Given the description of an element on the screen output the (x, y) to click on. 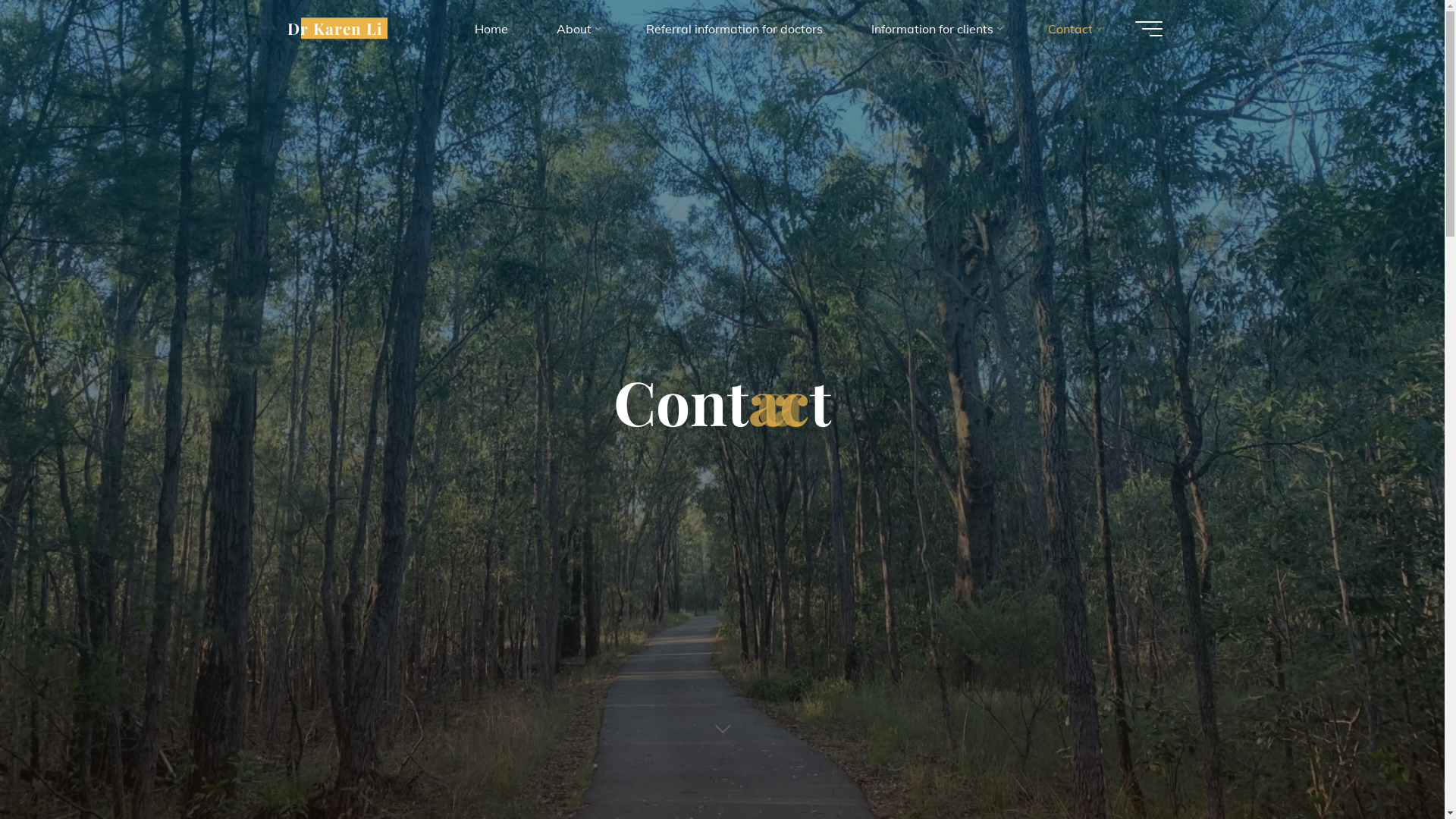
About Element type: text (576, 28)
Dr Karen Li Element type: text (334, 27)
Referral information for doctors Element type: text (734, 28)
Information for clients Element type: text (934, 28)
Contact Element type: text (1073, 28)
Home Element type: text (491, 28)
Read more Element type: hover (721, 726)
